Given the description of an element on the screen output the (x, y) to click on. 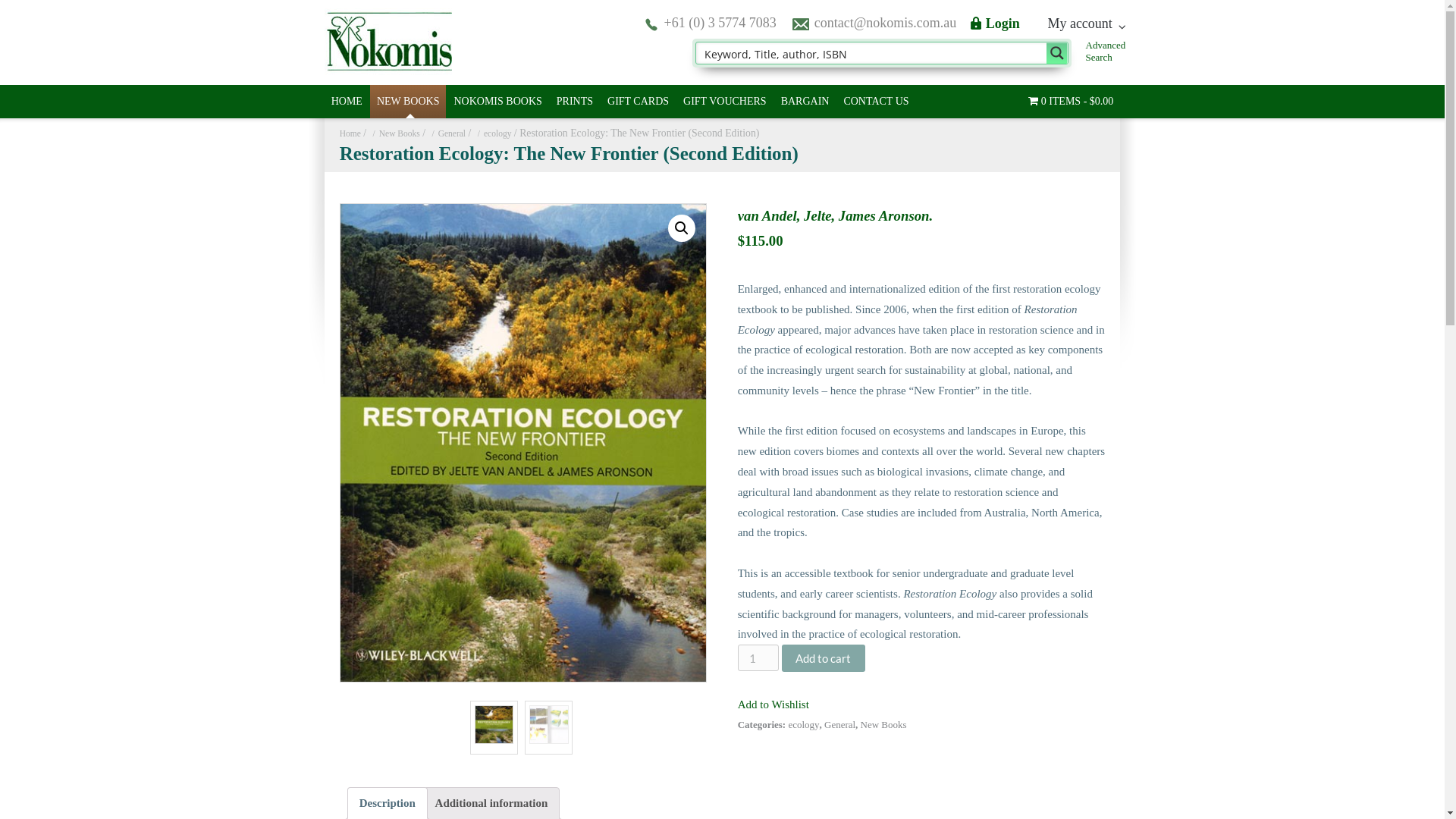
Qty Element type: hover (757, 657)
General Element type: text (839, 724)
NOKOMIS BOOKS Element type: text (497, 101)
GIFT CARDS Element type: text (637, 101)
PRINTS Element type: text (574, 101)
New Books Element type: text (394, 133)
BARGAIN Element type: text (805, 101)
contact@nokomis.com.au Element type: text (885, 22)
My account Element type: text (1086, 23)
+61 (0) 3 5774 7083 Element type: text (720, 22)
ecology Element type: text (803, 724)
General Element type: text (446, 133)
Home Element type: text (349, 133)
CONTACT US Element type: text (875, 101)
Add to Wishlist Element type: text (773, 704)
GIFT VOUCHERS Element type: text (724, 101)
33818 Element type: hover (523, 442)
NEW BOOKS Element type: text (408, 101)
Login Element type: text (994, 23)
HOME Element type: text (346, 101)
Add to cart Element type: text (822, 657)
New Books Element type: text (883, 724)
0 ITEMS$0.00 Element type: text (1070, 101)
Advanced Search Element type: text (1105, 50)
ecology Element type: text (492, 133)
